Given the description of an element on the screen output the (x, y) to click on. 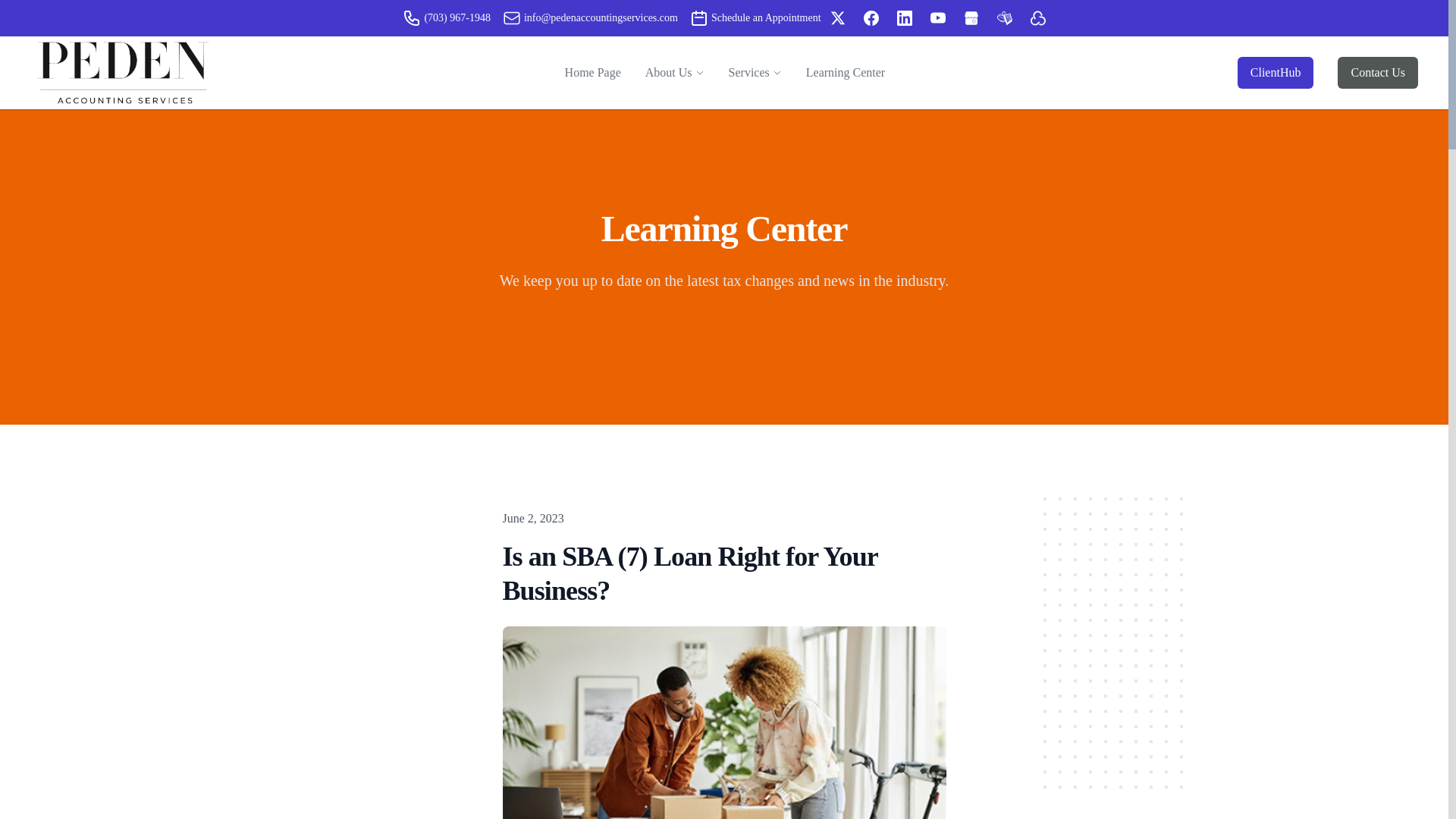
Peden Accounting Services Main (121, 72)
Services (749, 72)
Home Page (593, 72)
Google My Business (970, 17)
Twitter (837, 17)
Contact Us (1378, 72)
CountingWorks (1037, 17)
Learning Center (844, 72)
ClientHub (1275, 72)
About Us (669, 72)
TaxBuzz (1004, 17)
Facebook (871, 17)
LinkedIn (904, 17)
Schedule an Appointment (755, 18)
YouTube (937, 17)
